Given the description of an element on the screen output the (x, y) to click on. 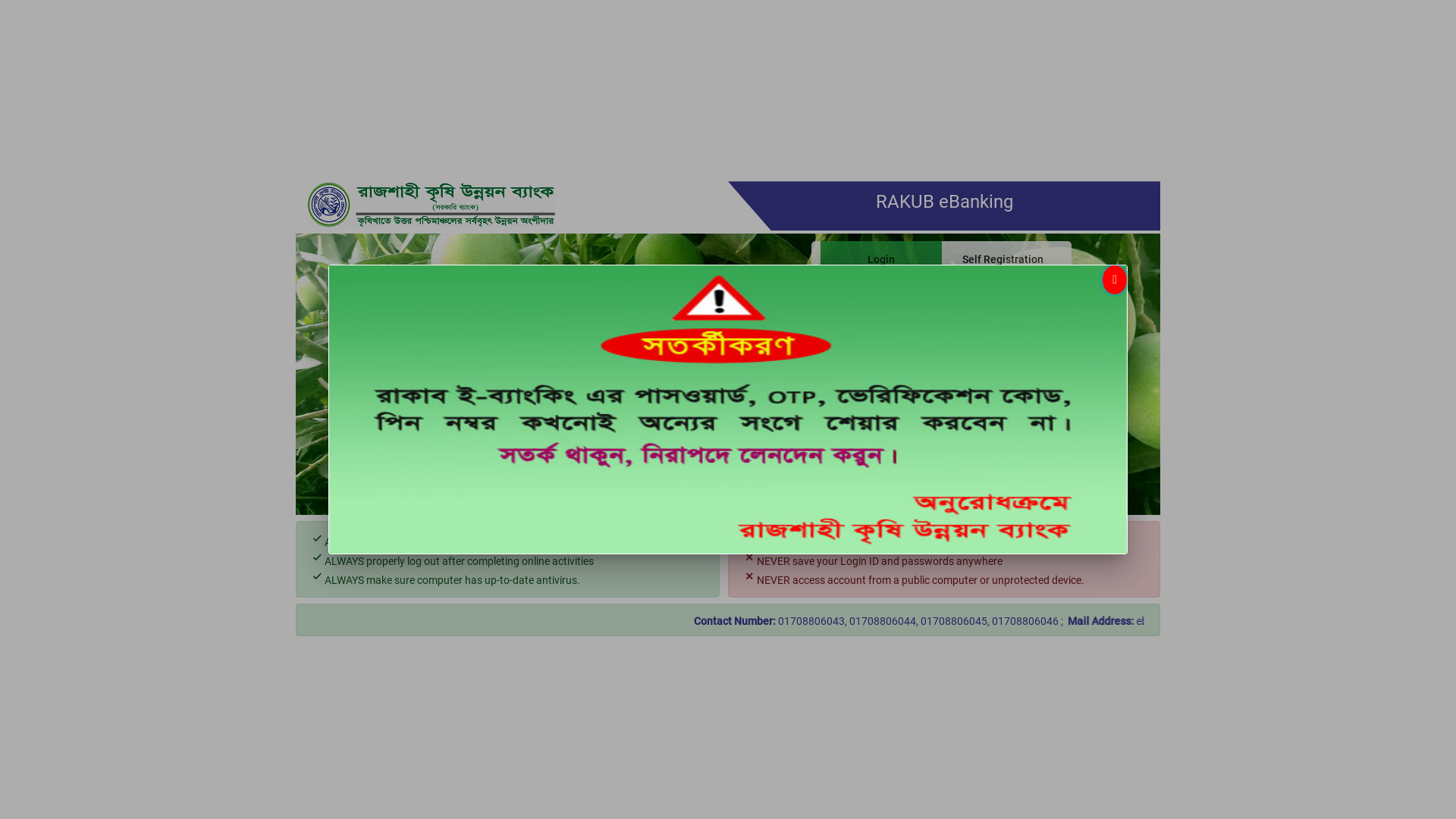
About Us Element type: text (850, 477)
Privacy policy Element type: text (1020, 477)
Password Recovery Element type: text (872, 440)
How to Sign Up ? Element type: text (930, 477)
Refresh Element type: text (998, 397)
Forgotten your User ID ? Element type: text (999, 440)
Log In Element type: text (883, 397)
